Given the description of an element on the screen output the (x, y) to click on. 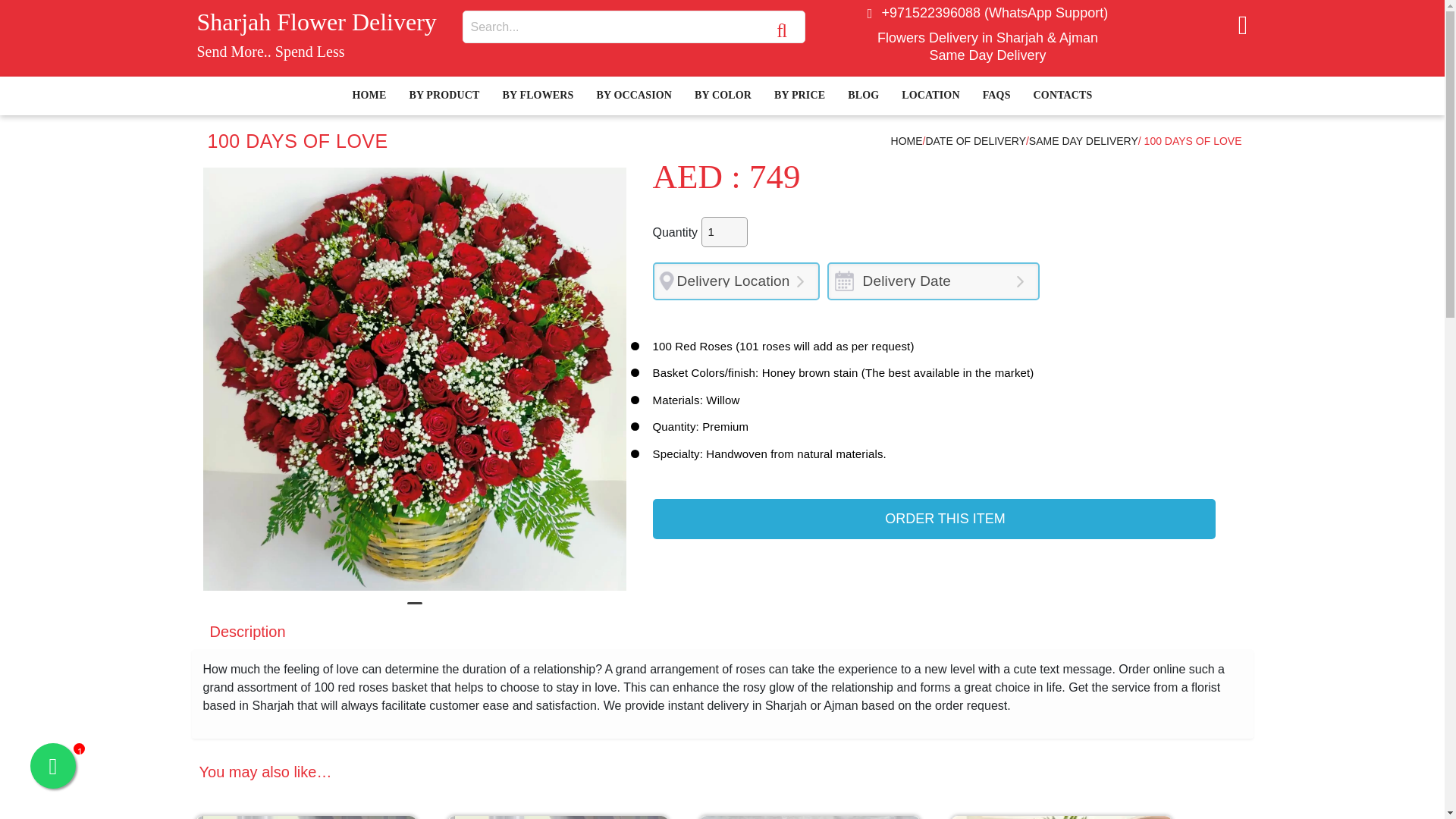
BY FLOWERS (537, 95)
Sharjah Flower Delivery (316, 22)
1 (724, 232)
BY PRODUCT (444, 95)
BY OCCASION (633, 95)
